Given the description of an element on the screen output the (x, y) to click on. 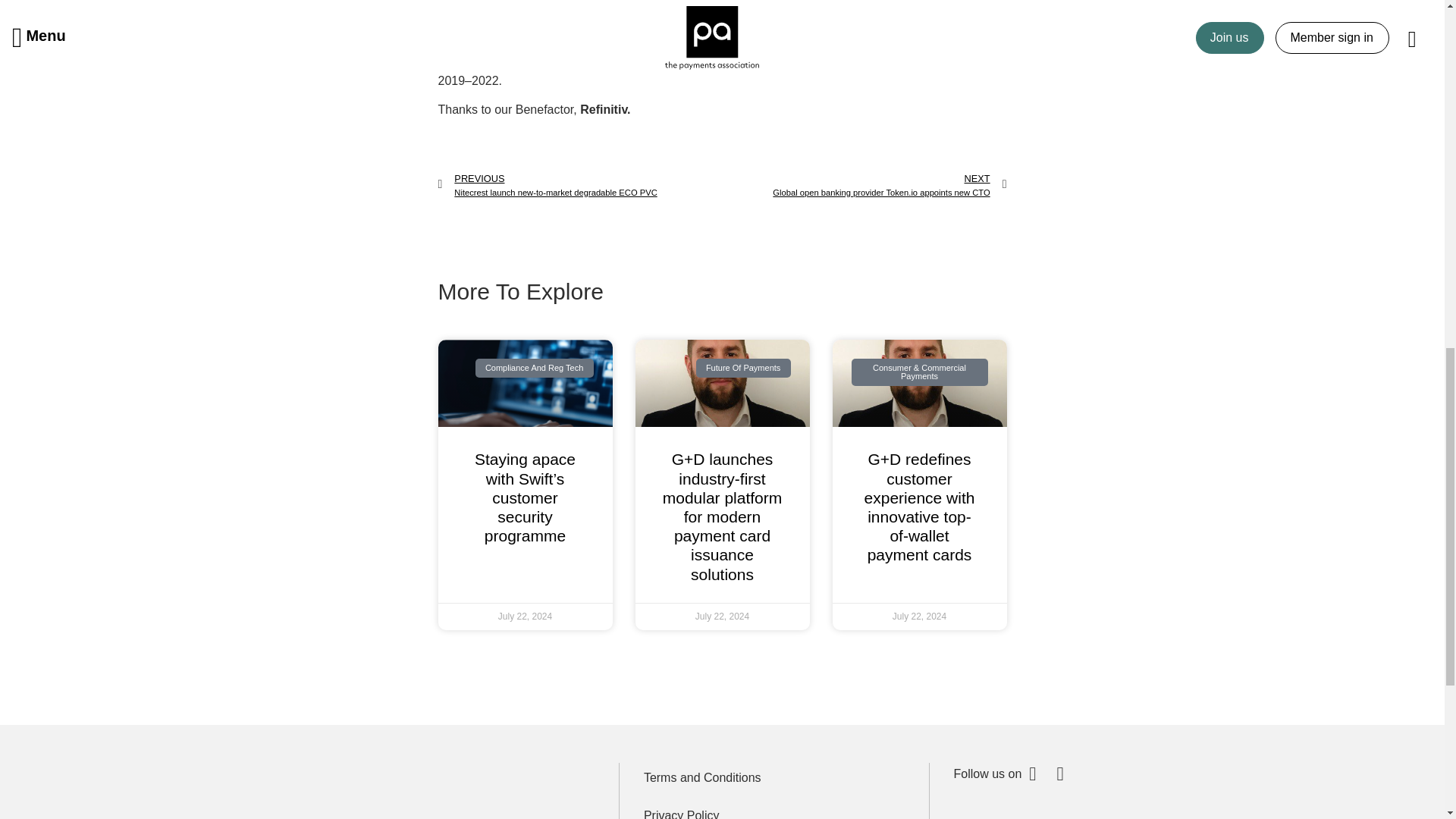
Terms and Conditions (864, 185)
Privacy Policy (580, 185)
